Given the description of an element on the screen output the (x, y) to click on. 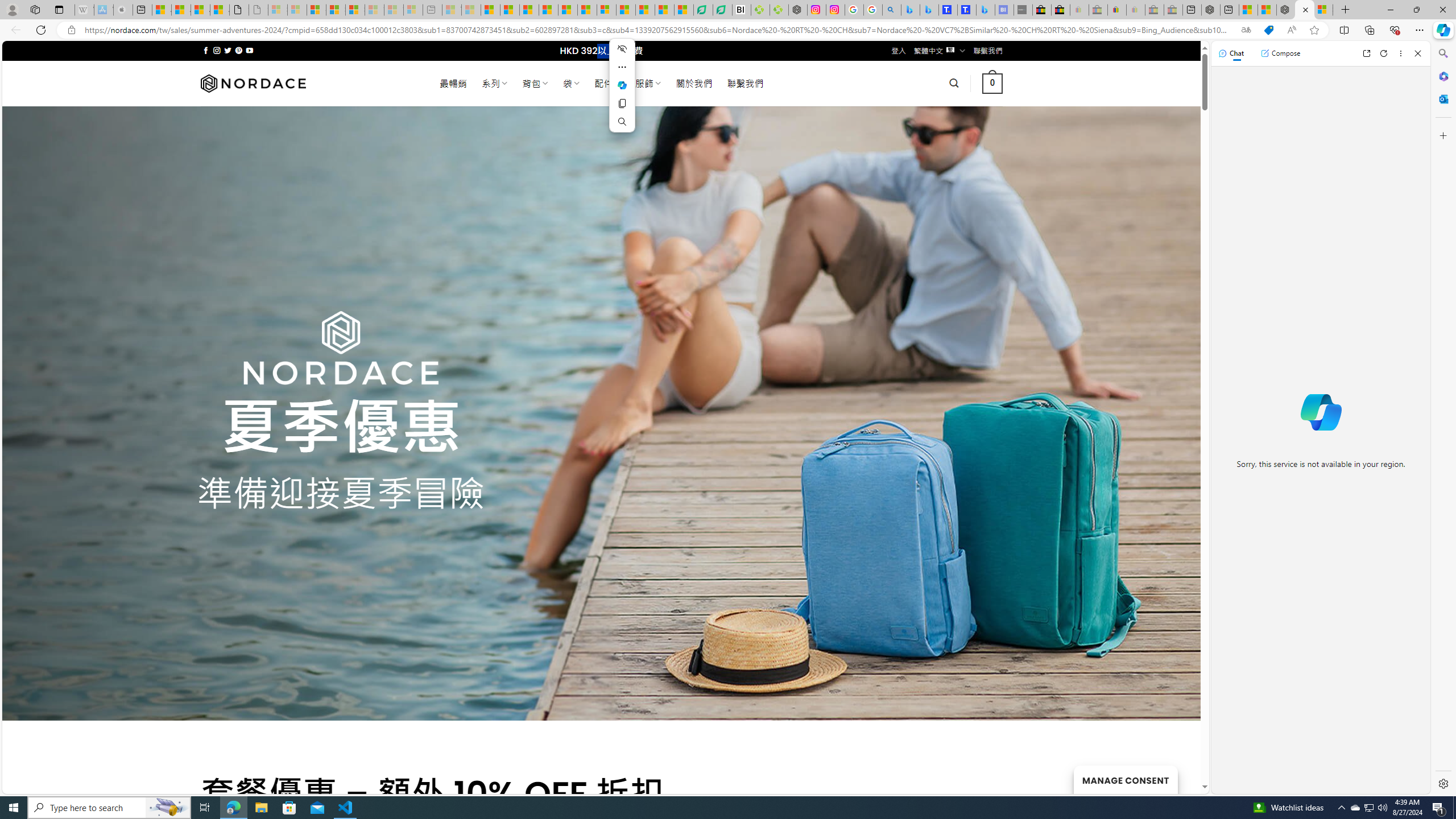
Sign in to your Microsoft account - Sleeping (277, 9)
Buy iPad - Apple - Sleeping (123, 9)
Top Stories - MSN - Sleeping (450, 9)
Foo BAR | Trusted Community Engagement and Contributions (586, 9)
Outlook (1442, 98)
MANAGE CONSENT (1125, 779)
Yard, Garden & Outdoor Living - Sleeping (1173, 9)
Side bar (1443, 418)
